Given the description of an element on the screen output the (x, y) to click on. 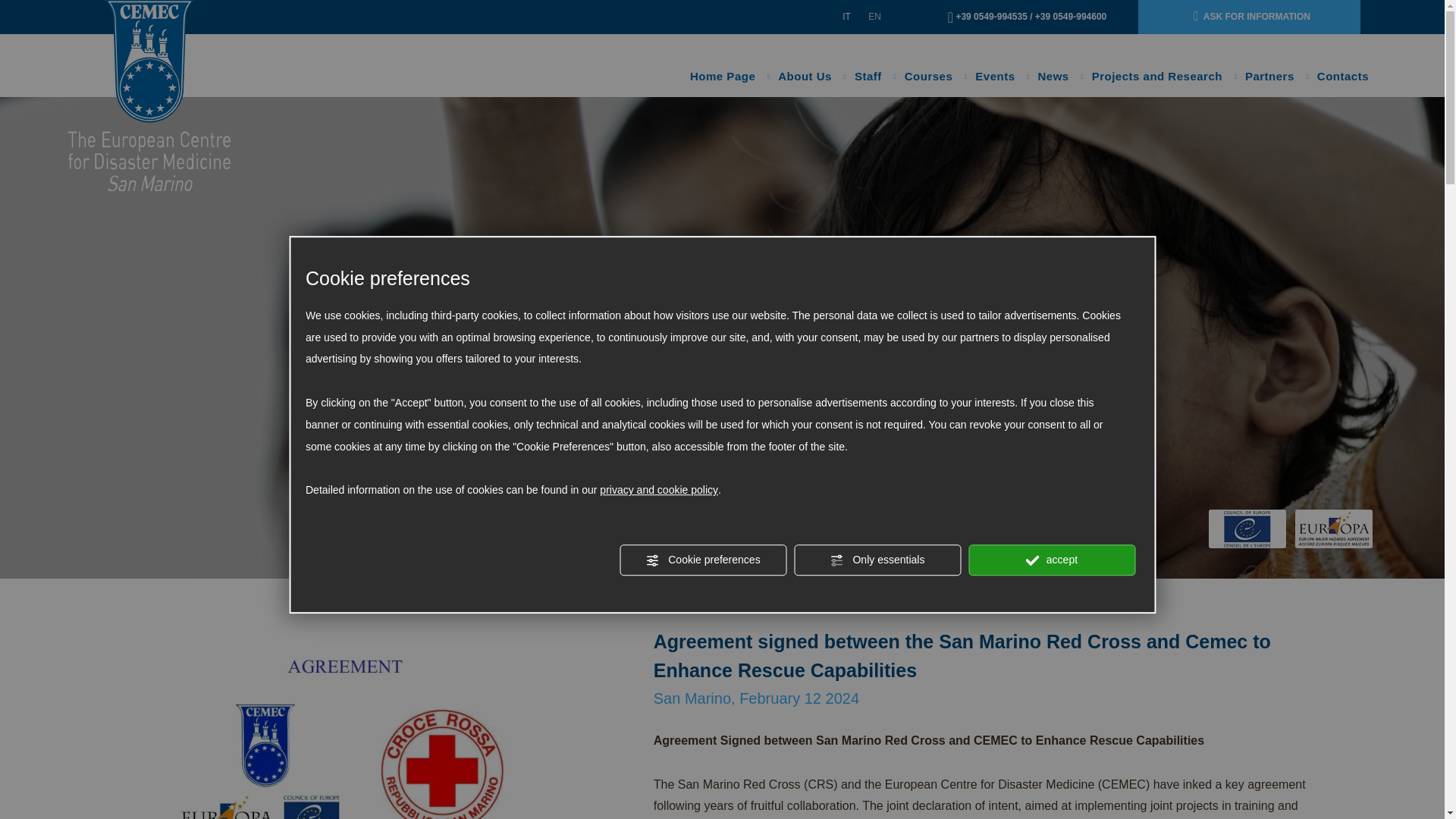
Home Page (721, 76)
privacy and cookie policy (658, 490)
Projects and Research (1156, 76)
IT (846, 16)
About Us (804, 76)
Partners (1269, 76)
accept (1051, 559)
Staff (867, 76)
 ASK FOR INFORMATION (1248, 17)
Cookie preferences (703, 559)
EN (874, 16)
Contacts (1343, 76)
News (1052, 76)
Only essentials (876, 559)
Events (994, 76)
